Given the description of an element on the screen output the (x, y) to click on. 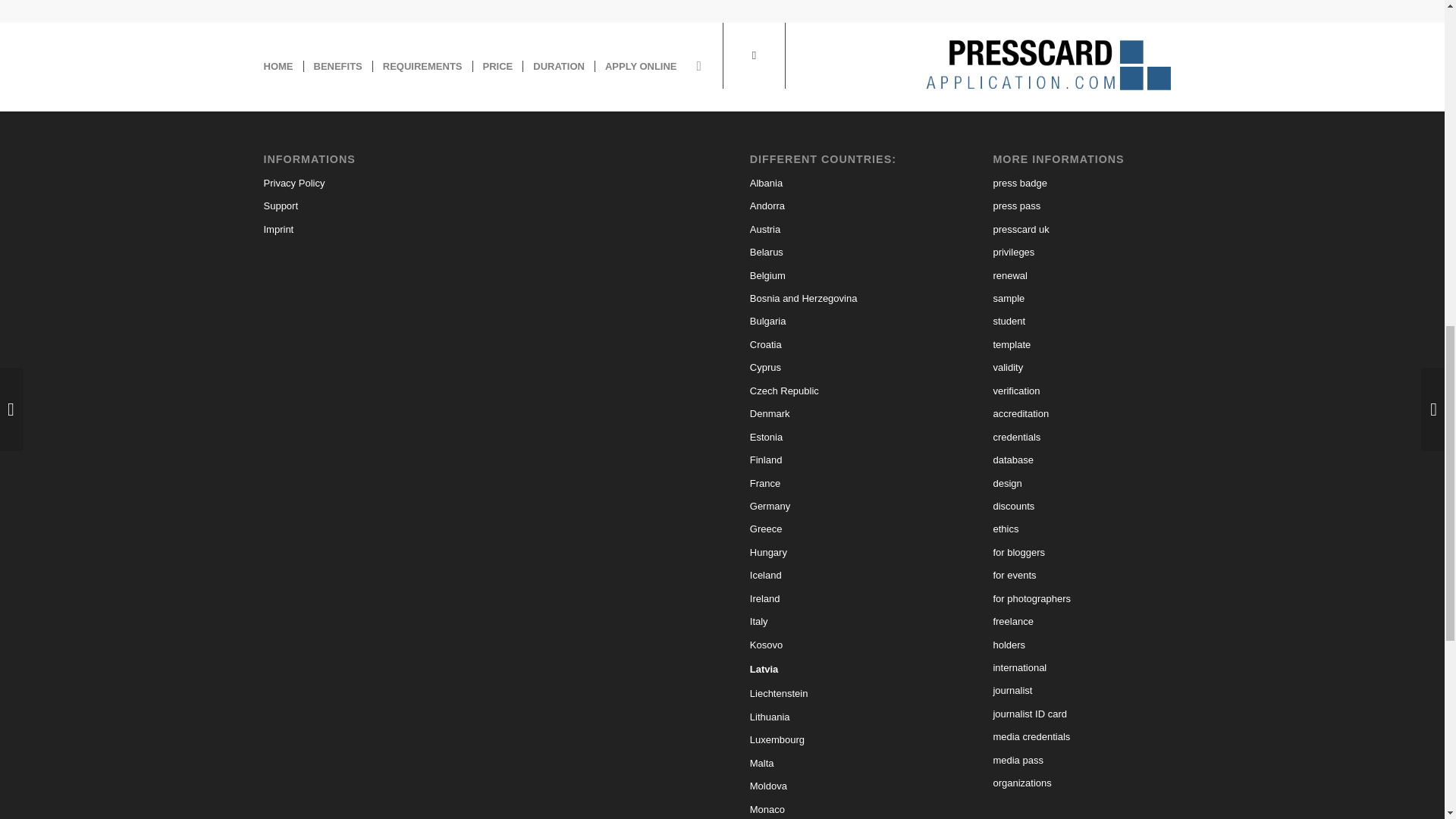
Bosnia and Herzegovina (843, 298)
Lithuania (843, 716)
Czech Republic (843, 391)
Liechtenstein (843, 693)
Support (357, 205)
Belarus (843, 251)
Iceland (843, 575)
Kosovo (843, 644)
Latvia (843, 669)
Finland (843, 459)
Andorra (843, 205)
Austria (843, 229)
France (843, 483)
Hungary (843, 552)
Albania (843, 182)
